Given the description of an element on the screen output the (x, y) to click on. 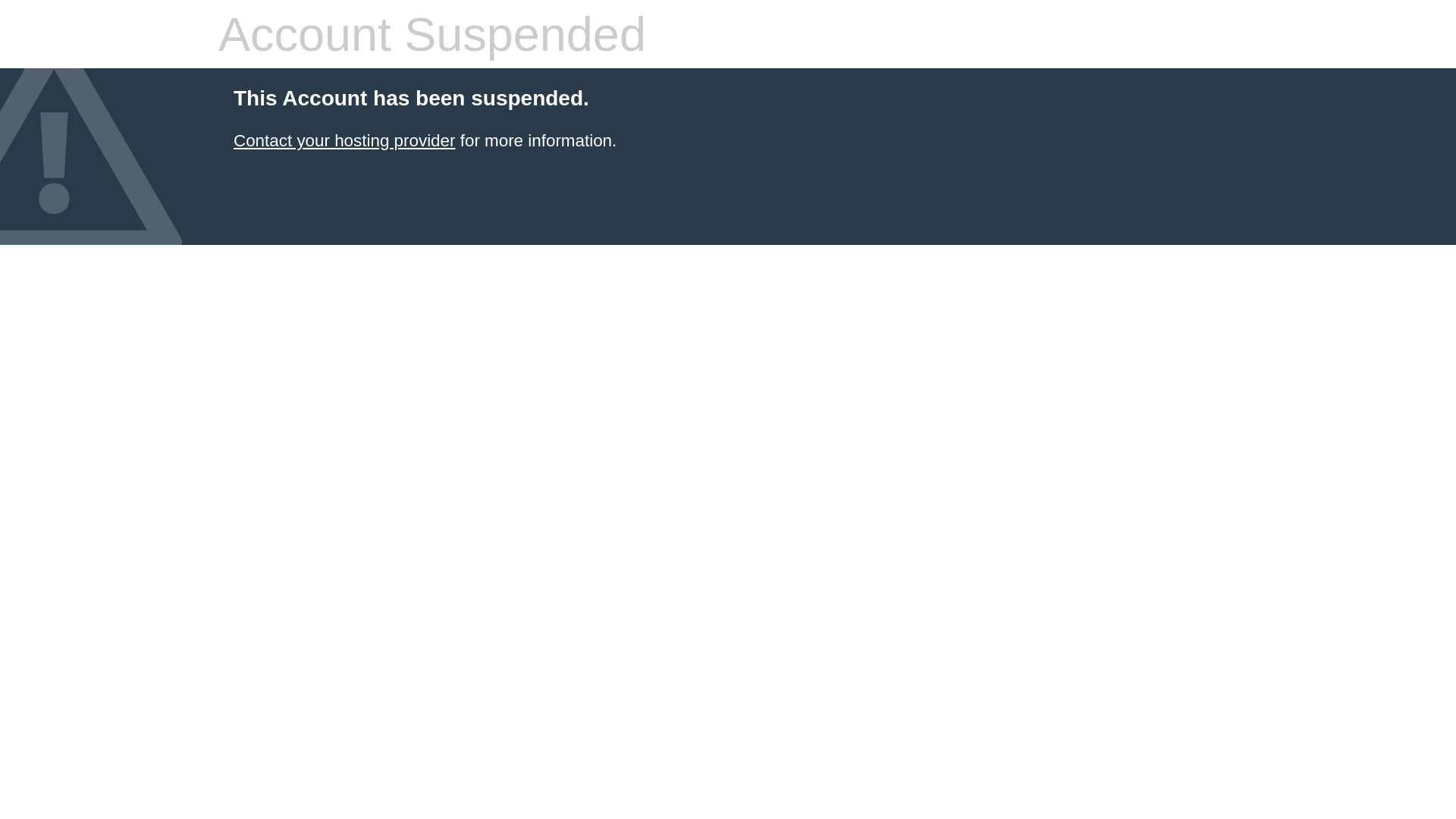
Contact your hosting provider Element type: text (344, 140)
